Given the description of an element on the screen output the (x, y) to click on. 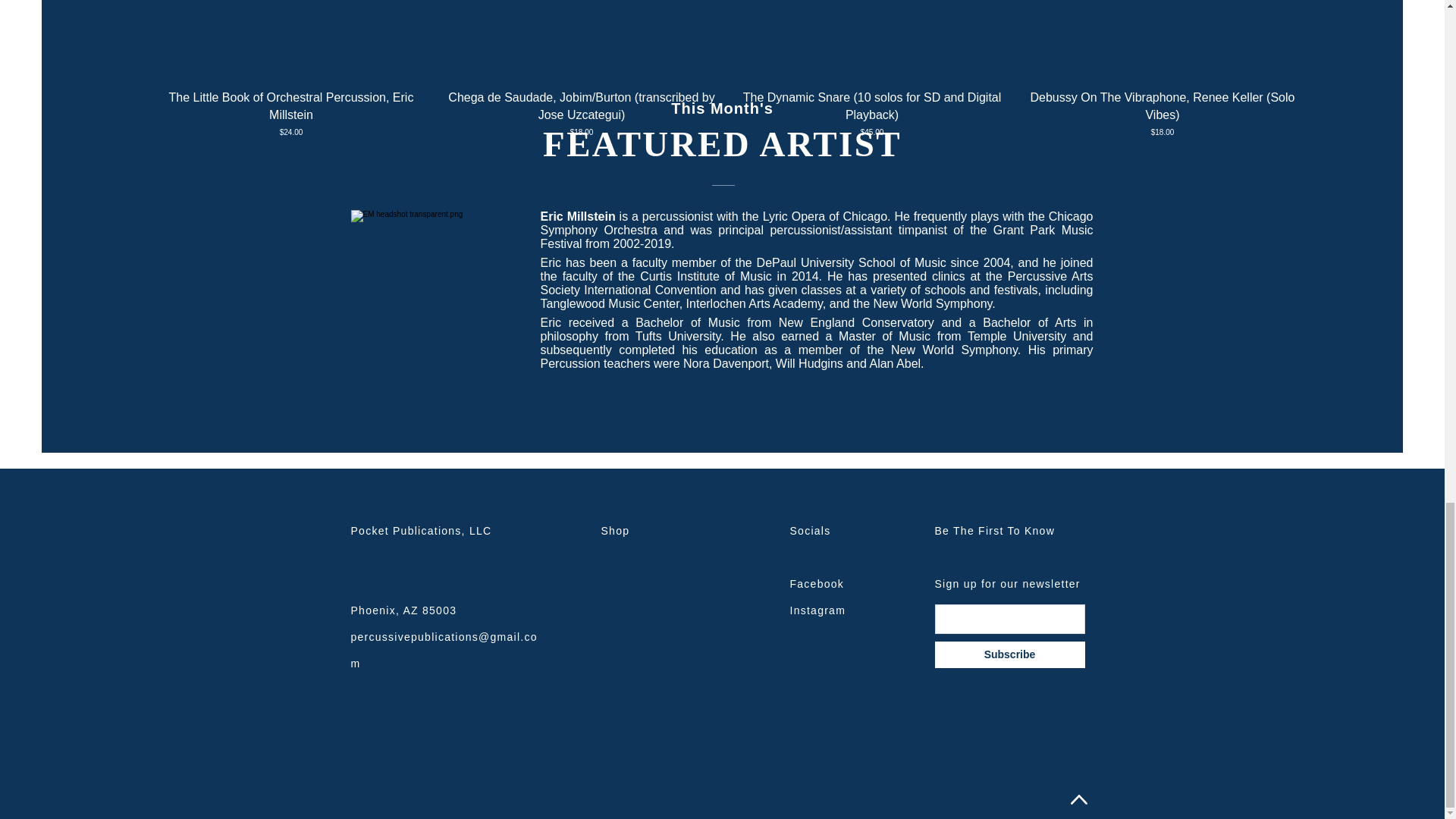
Shop (613, 530)
Subscribe (1009, 654)
Facebook (817, 583)
Instagram (817, 610)
